Given the description of an element on the screen output the (x, y) to click on. 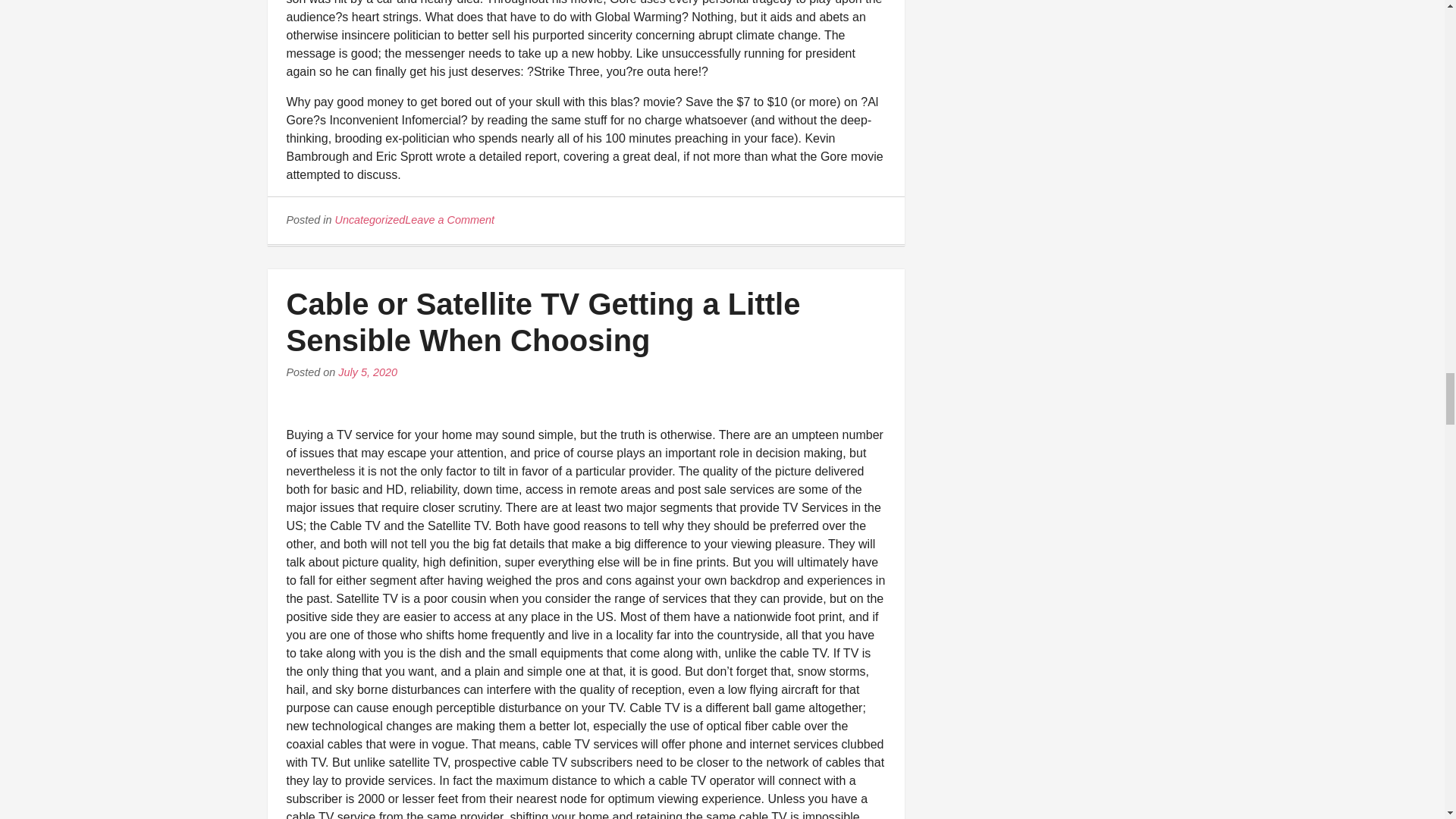
Uncategorized (370, 219)
July 5, 2020 (367, 372)
